Given the description of an element on the screen output the (x, y) to click on. 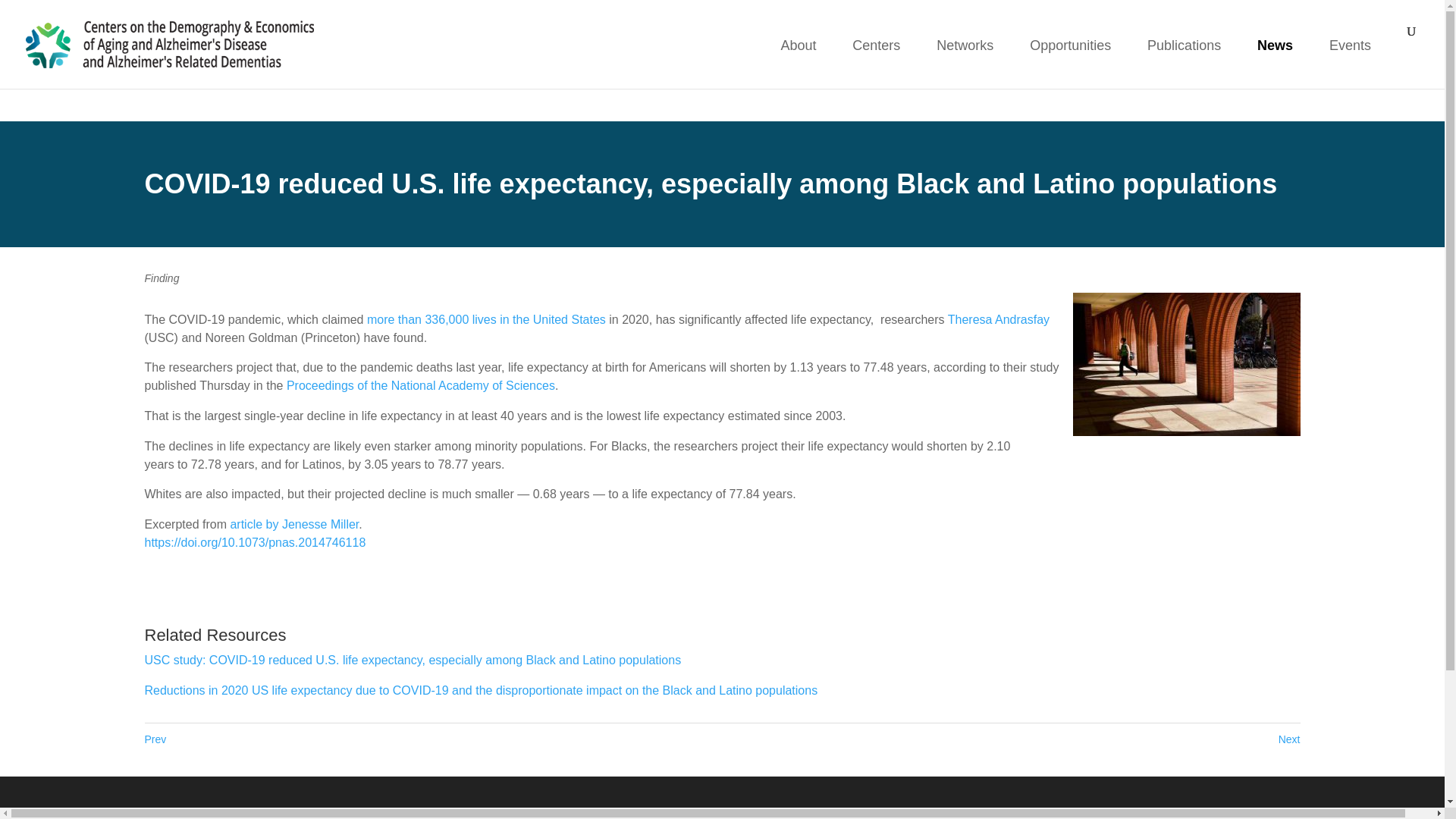
News (1274, 56)
Centers (875, 56)
About (797, 56)
Theresa Andrasfay (998, 318)
Publications (1184, 56)
more than 336,000 lives in the United States (485, 318)
article by Jenesse Miller (294, 523)
Opportunities (1069, 56)
Next (1289, 740)
Proceedings of the National Academy of Sciences (420, 385)
Events (1350, 56)
Networks (964, 56)
Prev (154, 740)
